Given the description of an element on the screen output the (x, y) to click on. 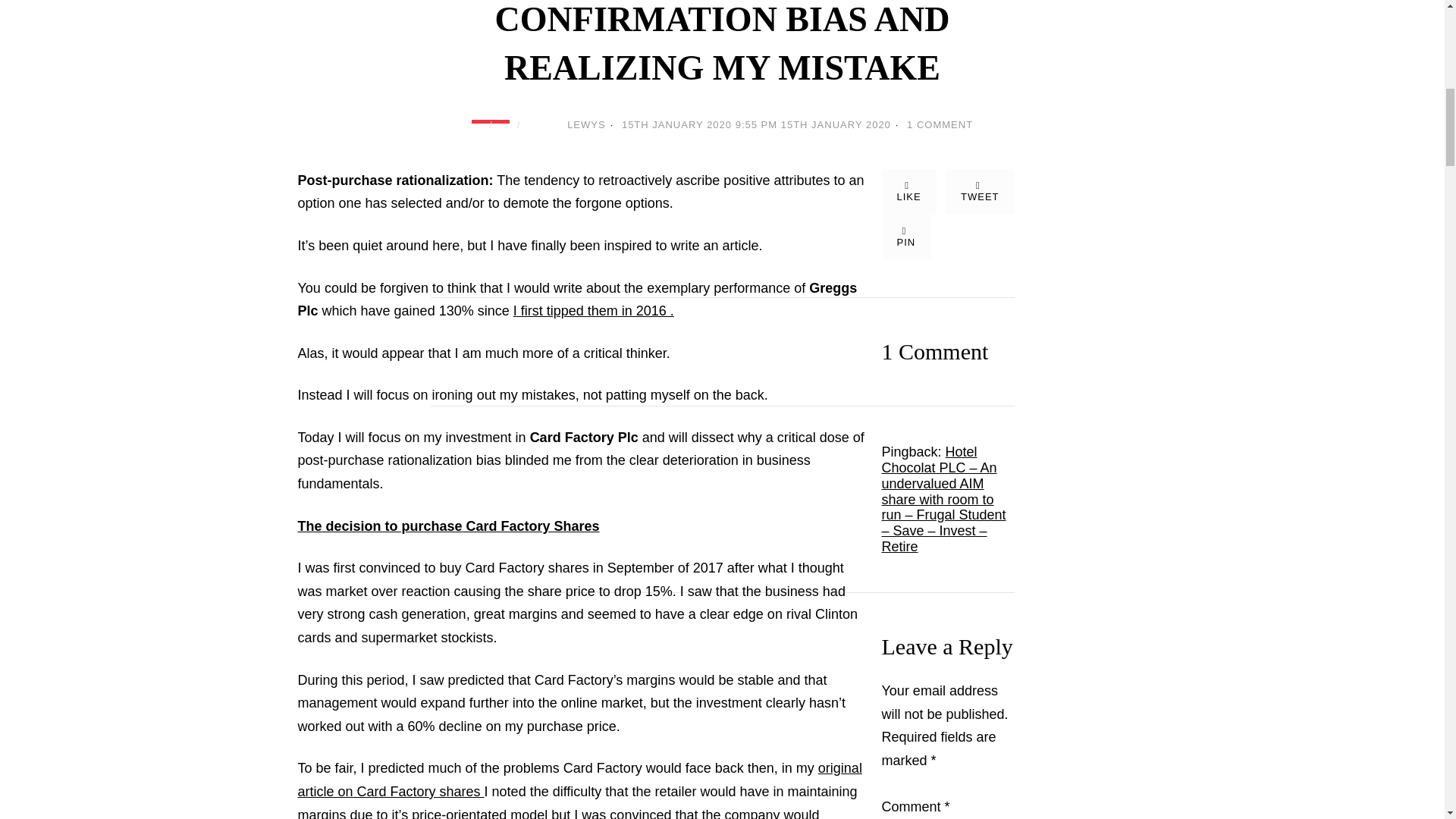
original article on Card Factory shares (579, 779)
LIKE (908, 191)
LEWYS (586, 125)
15TH JANUARY 2020 9:55 PM (699, 125)
1 COMMENT (939, 125)
Posts by lewys (586, 125)
15TH JANUARY 2020 (835, 125)
TWEET (979, 191)
I first tipped them in 2016 . (593, 310)
PIN (905, 237)
